Given the description of an element on the screen output the (x, y) to click on. 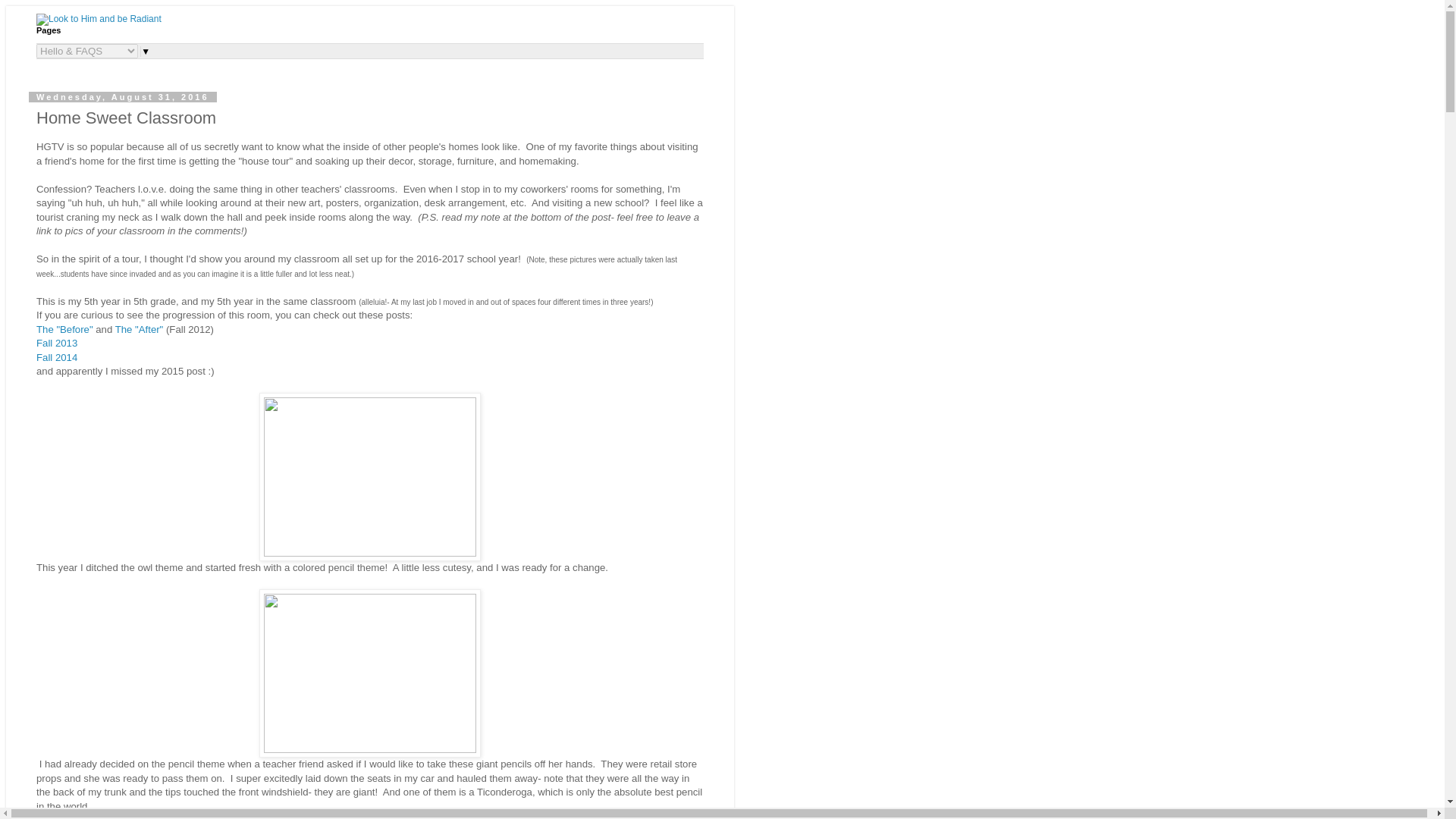
The "Before" (64, 328)
Fall 2013 (56, 342)
The "After" (139, 328)
Fall 2014 (56, 357)
